Given the description of an element on the screen output the (x, y) to click on. 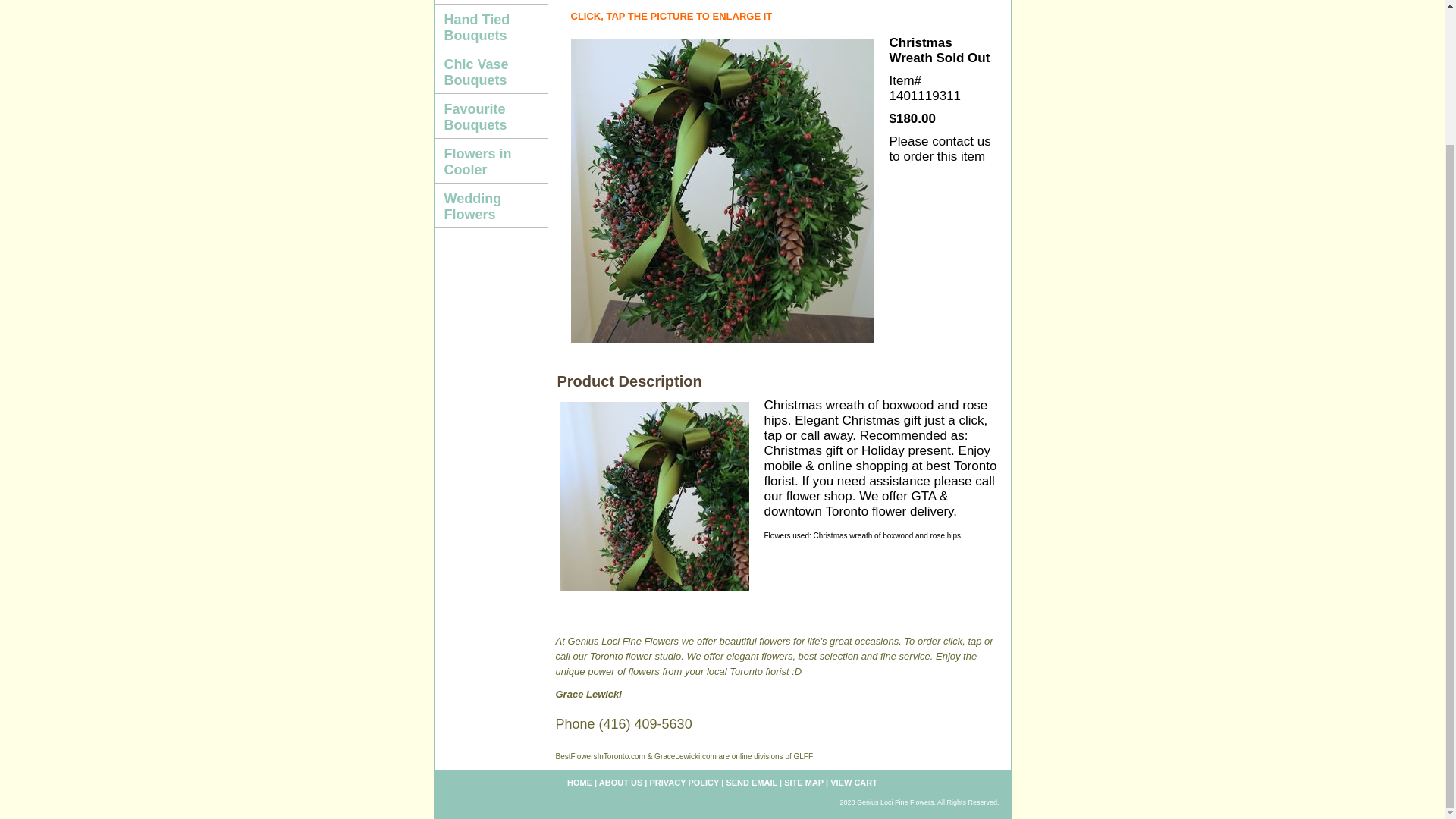
SITE MAP (804, 782)
HOME (579, 782)
Wedding Flowers (490, 205)
Hand Tied Bouquets (490, 26)
Favourite Bouquets (490, 116)
Chic Vase Bouquets (490, 71)
Hand Tied Bouquets (490, 26)
Christmas Wreath Sold Out (722, 191)
VIEW CART (853, 782)
Favourite Bouquets (490, 116)
Flowers in Cooler (490, 160)
ABOUT US (620, 782)
Chic Vase Bouquets (490, 71)
Christmas Wreath Sold Out (653, 496)
Posh Rose Bouquets (490, 2)
